Given the description of an element on the screen output the (x, y) to click on. 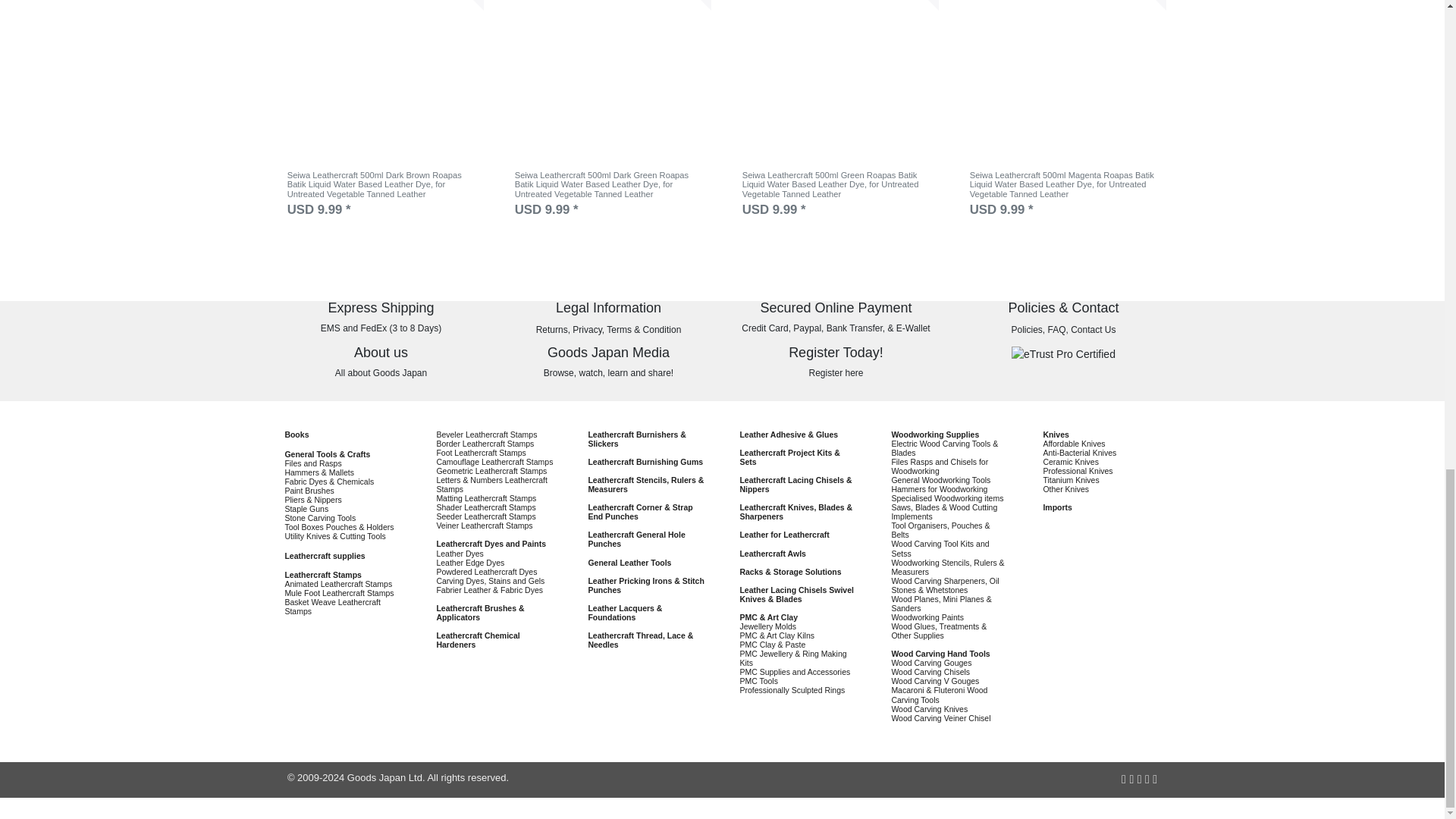
Add to cart (1139, 5)
Add to cart (684, 5)
eTrust Pro Certified (1063, 354)
Add to cart (456, 5)
Add to cart (912, 5)
